Given the description of an element on the screen output the (x, y) to click on. 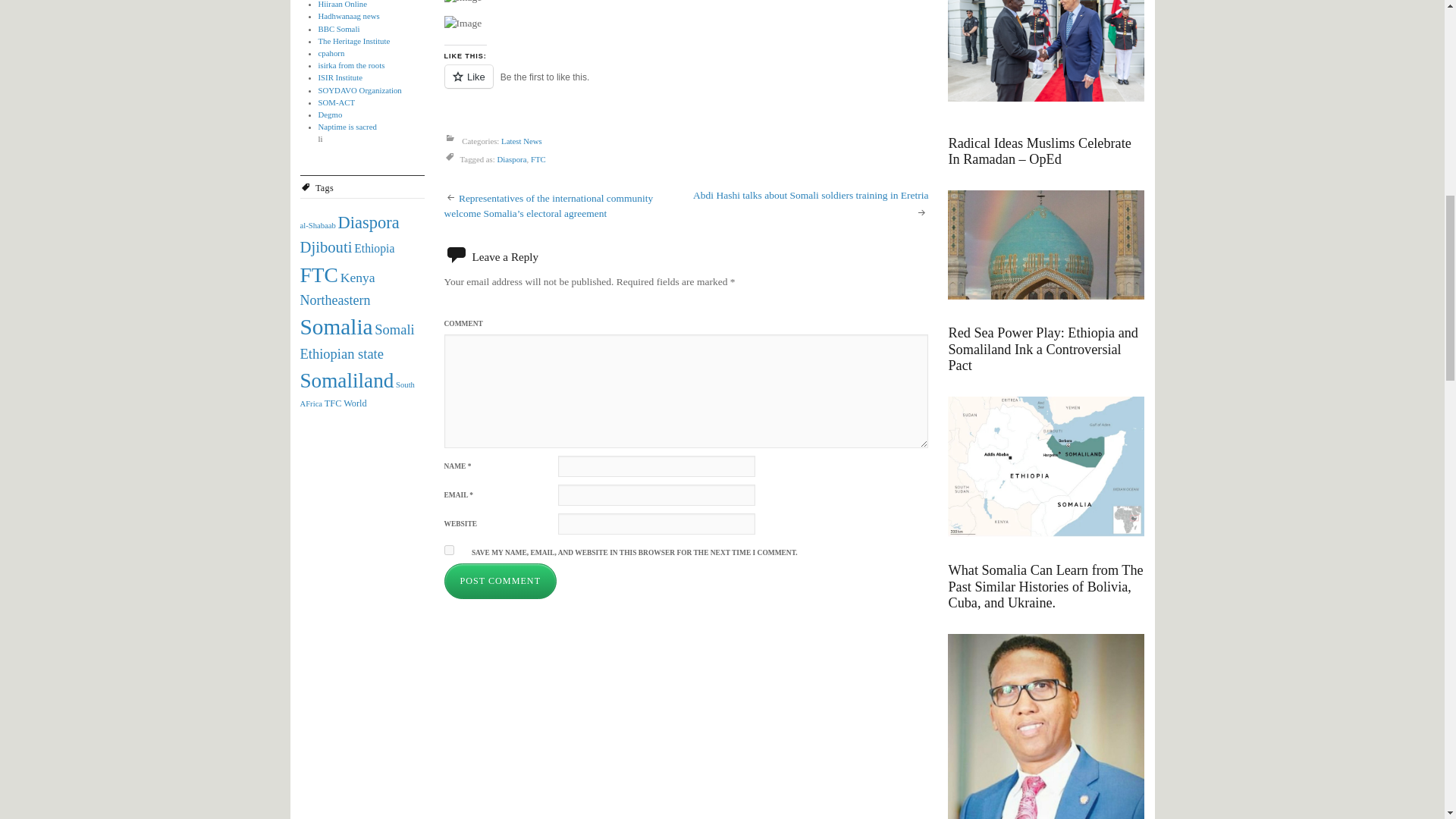
Like or Reblog (686, 85)
SOM-ACT (336, 102)
Somaliland (346, 380)
Ethiopia (373, 247)
cpahorn (331, 52)
Post Comment (500, 580)
Naptime is sacred (347, 126)
FTC (318, 274)
World (354, 403)
Djibouti (325, 247)
The Heritage Institute (354, 40)
Hadhwanaag news (349, 15)
BBC Somali (338, 28)
isirka from the roots (351, 64)
TFC (333, 403)
